Given the description of an element on the screen output the (x, y) to click on. 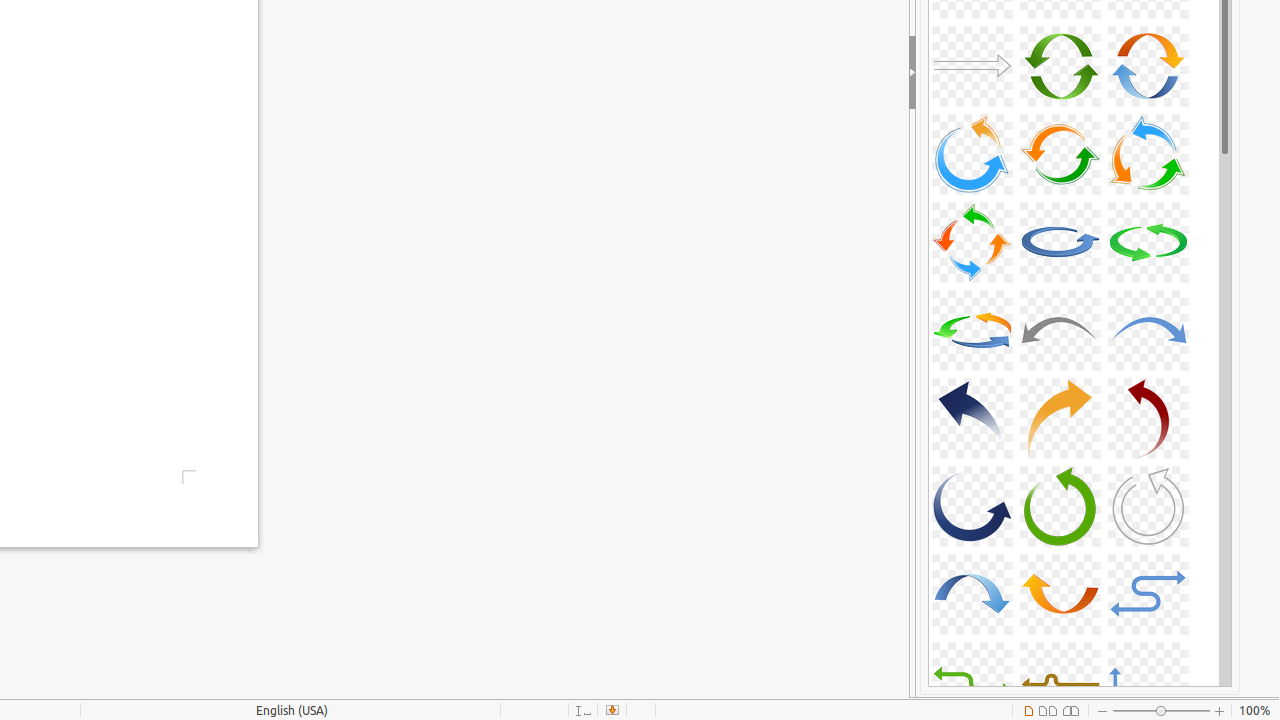
A32-CurvedArrow-Orange Element type: list-item (1060, 594)
A28-CurvedArrow-DarkBlue Element type: list-item (972, 506)
A25-CurvedArrow-DarkBlue Element type: list-item (972, 417)
A16-CircleArrow Element type: list-item (972, 154)
A19-CircleArrow Element type: list-item (972, 242)
